Given the description of an element on the screen output the (x, y) to click on. 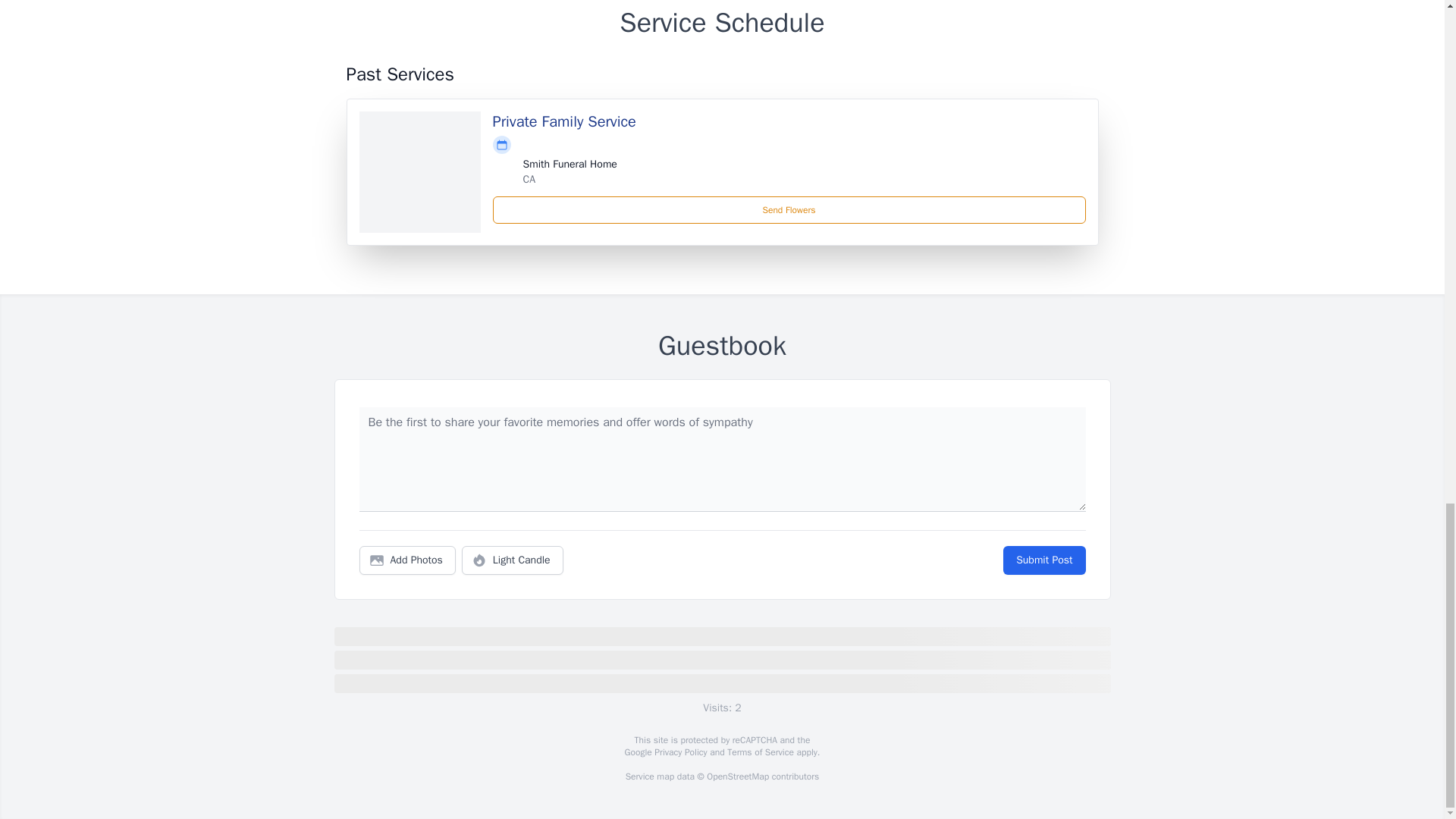
Send Flowers (789, 209)
Add Photos (407, 560)
Privacy Policy (679, 752)
Submit Post (1043, 560)
Light Candle (512, 560)
CA (528, 178)
OpenStreetMap (737, 776)
Terms of Service (759, 752)
